Given the description of an element on the screen output the (x, y) to click on. 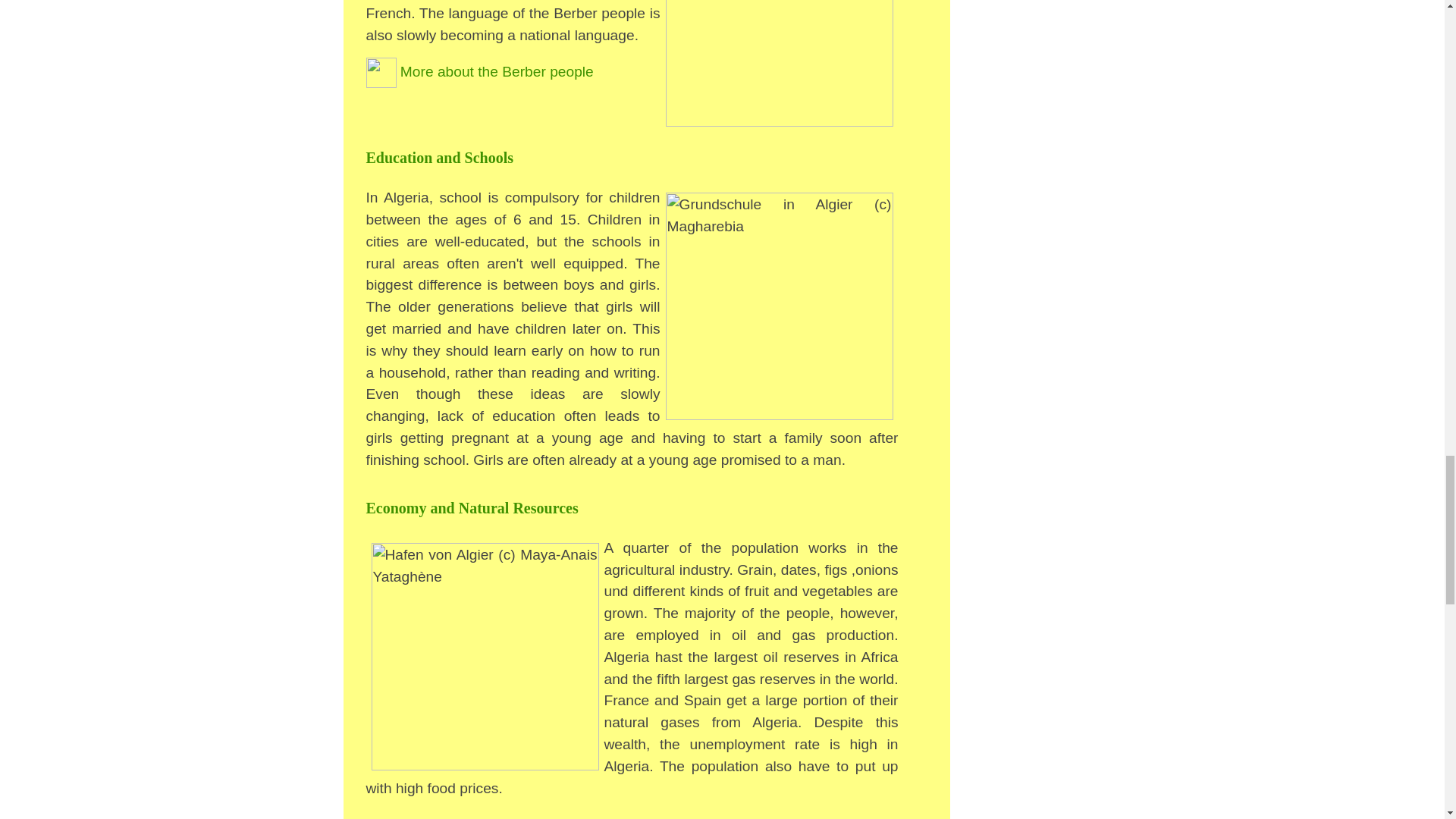
Berber (478, 71)
More about the Berber people (478, 71)
